Given the description of an element on the screen output the (x, y) to click on. 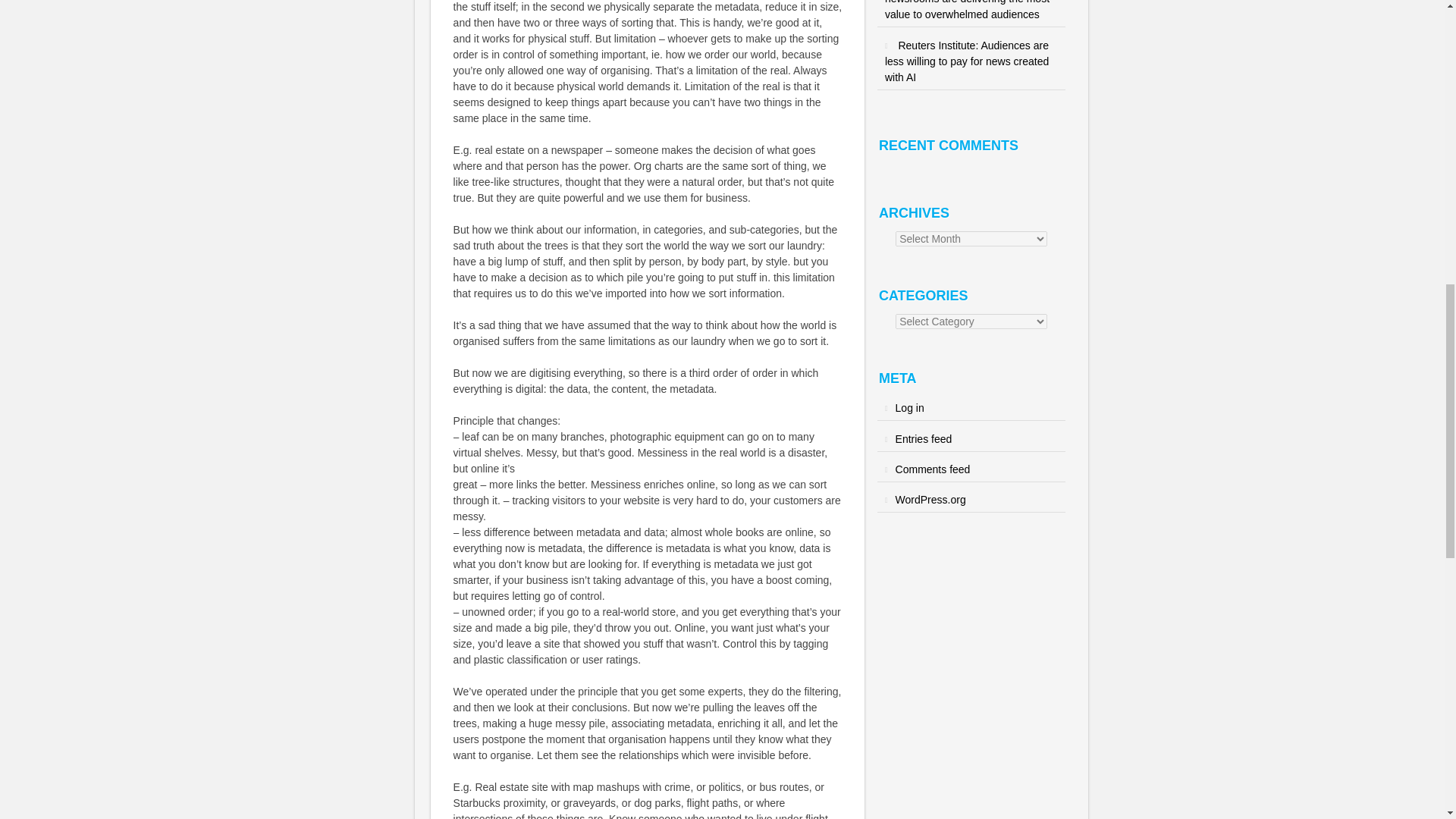
WordPress.org (930, 499)
Log in (909, 408)
Entries feed (923, 439)
Comments feed (933, 469)
